Given the description of an element on the screen output the (x, y) to click on. 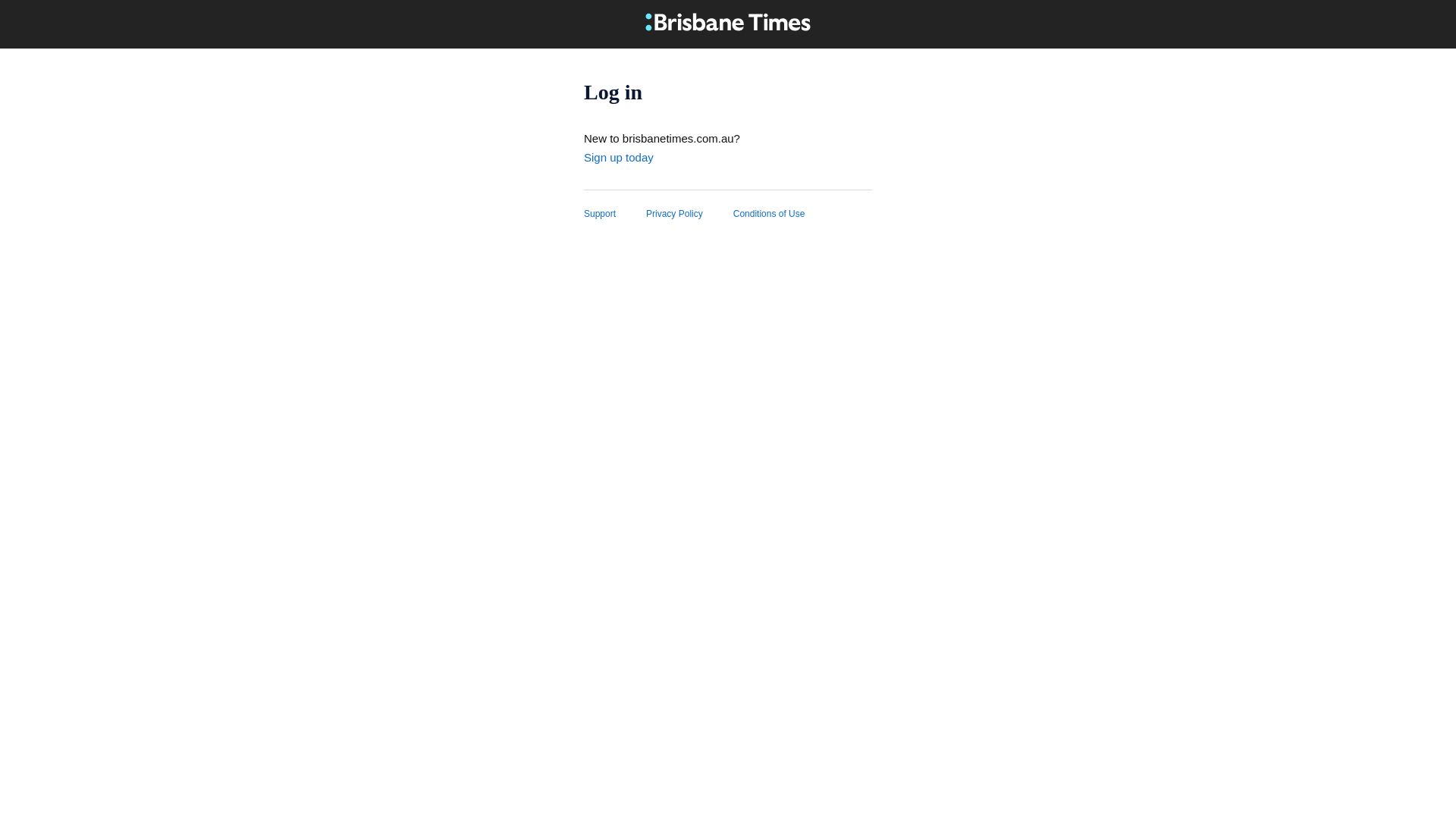
Conditions of Use Element type: text (784, 213)
Privacy Policy Element type: text (689, 213)
Support Element type: text (614, 213)
Sign up today Element type: text (618, 156)
